Given the description of an element on the screen output the (x, y) to click on. 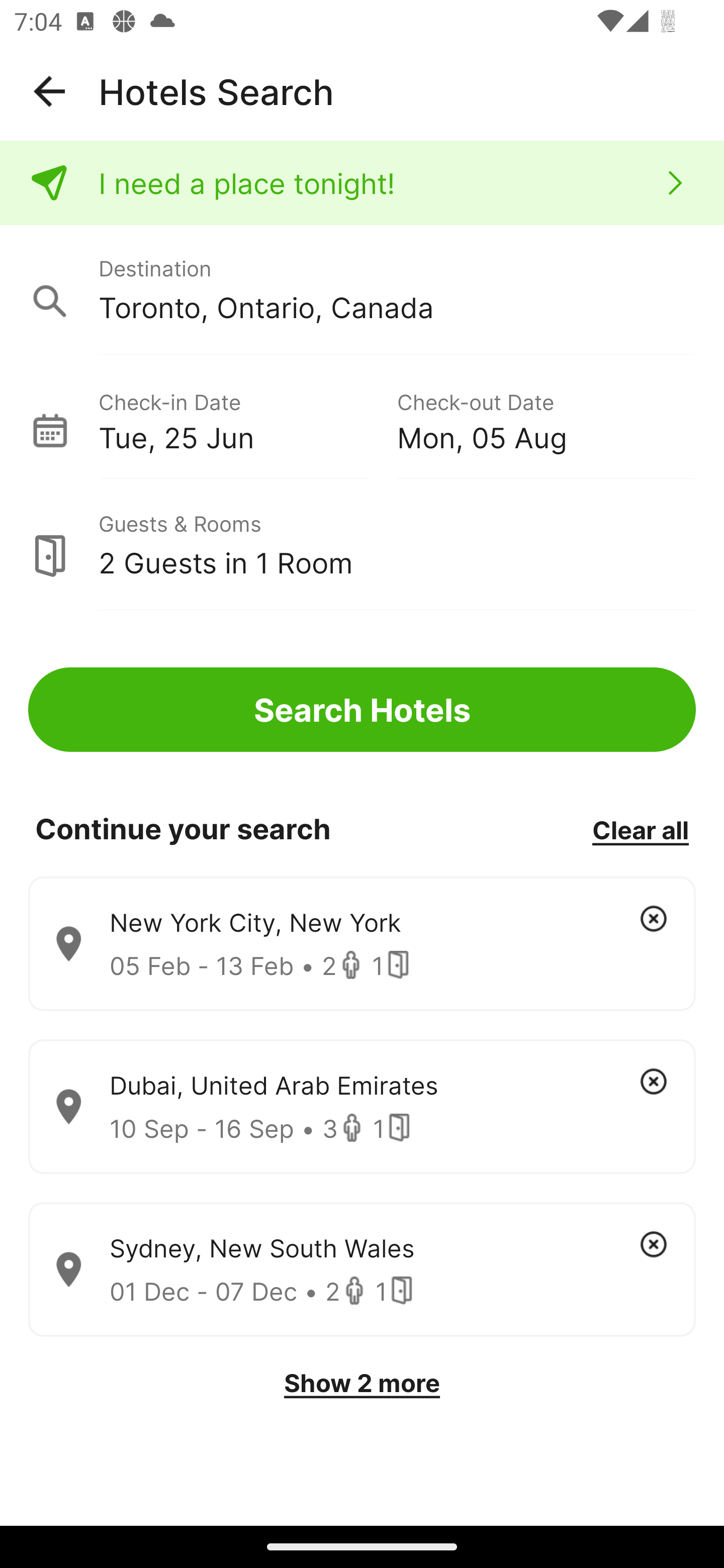
I need a place tonight! (362, 183)
Destination Toronto, Ontario, Canada (362, 290)
Check-in Date Tue, 25 Jun (247, 418)
Check-out Date Mon, 05 Aug (546, 418)
Guests & Rooms 2 Guests in 1 Room (362, 545)
Search Hotels (361, 709)
Clear all (640, 829)
New York City, New York 05 Feb - 13 Feb • 2  1  (361, 943)
Sydney, New South Wales 01 Dec - 07 Dec • 2  1  (361, 1269)
Show 2 more (362, 1382)
